Given the description of an element on the screen output the (x, y) to click on. 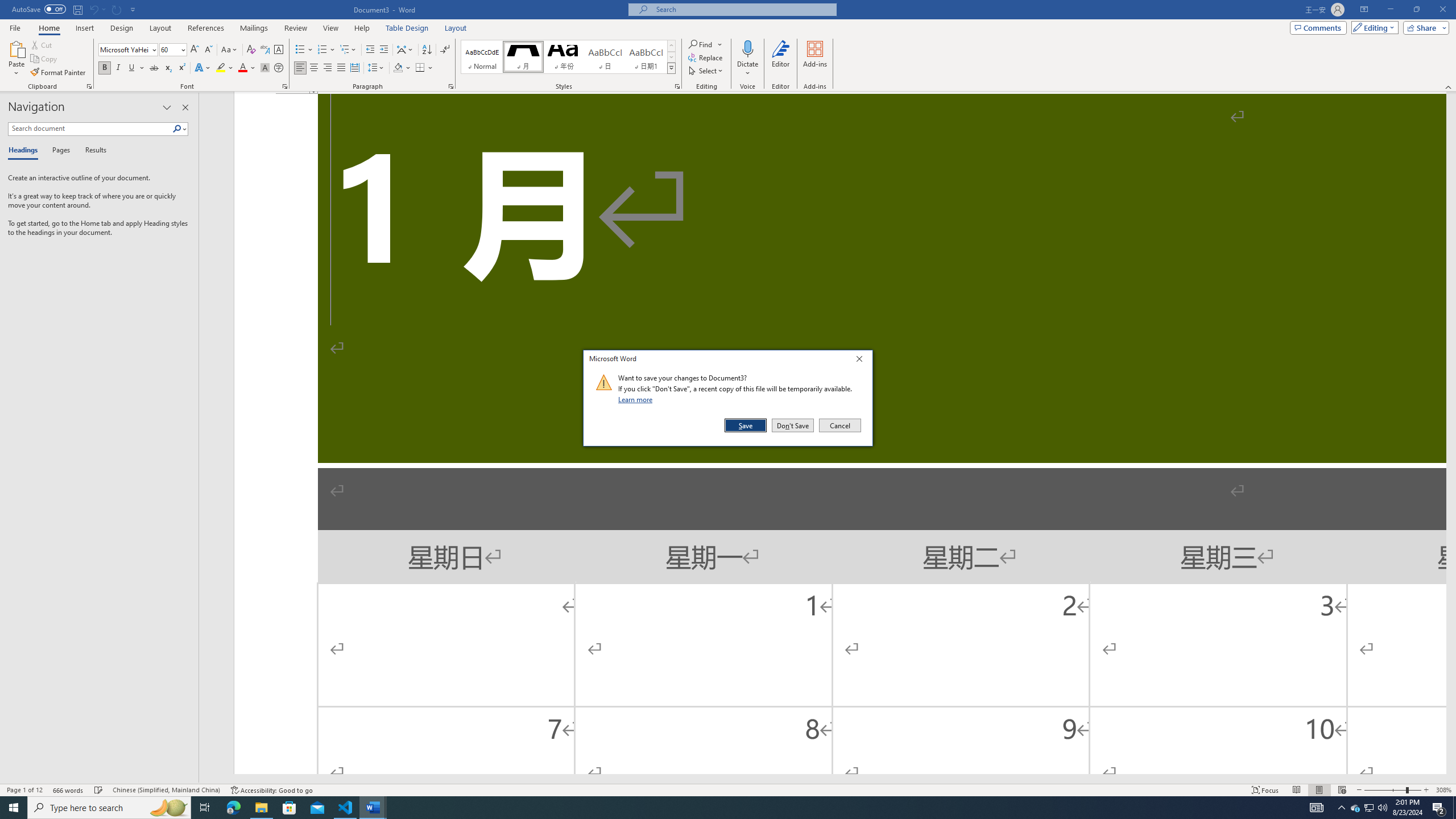
Search (179, 128)
Start (13, 807)
Align Right (327, 67)
Results (91, 150)
Clear Formatting (250, 49)
Microsoft Store (289, 807)
Borders (424, 67)
Web Layout (1342, 790)
Page Number Page 1 of 12 (24, 790)
Bullets (304, 49)
Save (746, 425)
Mode (1372, 27)
Text Highlight Color Yellow (220, 67)
Show desktop (1368, 807)
